Given the description of an element on the screen output the (x, y) to click on. 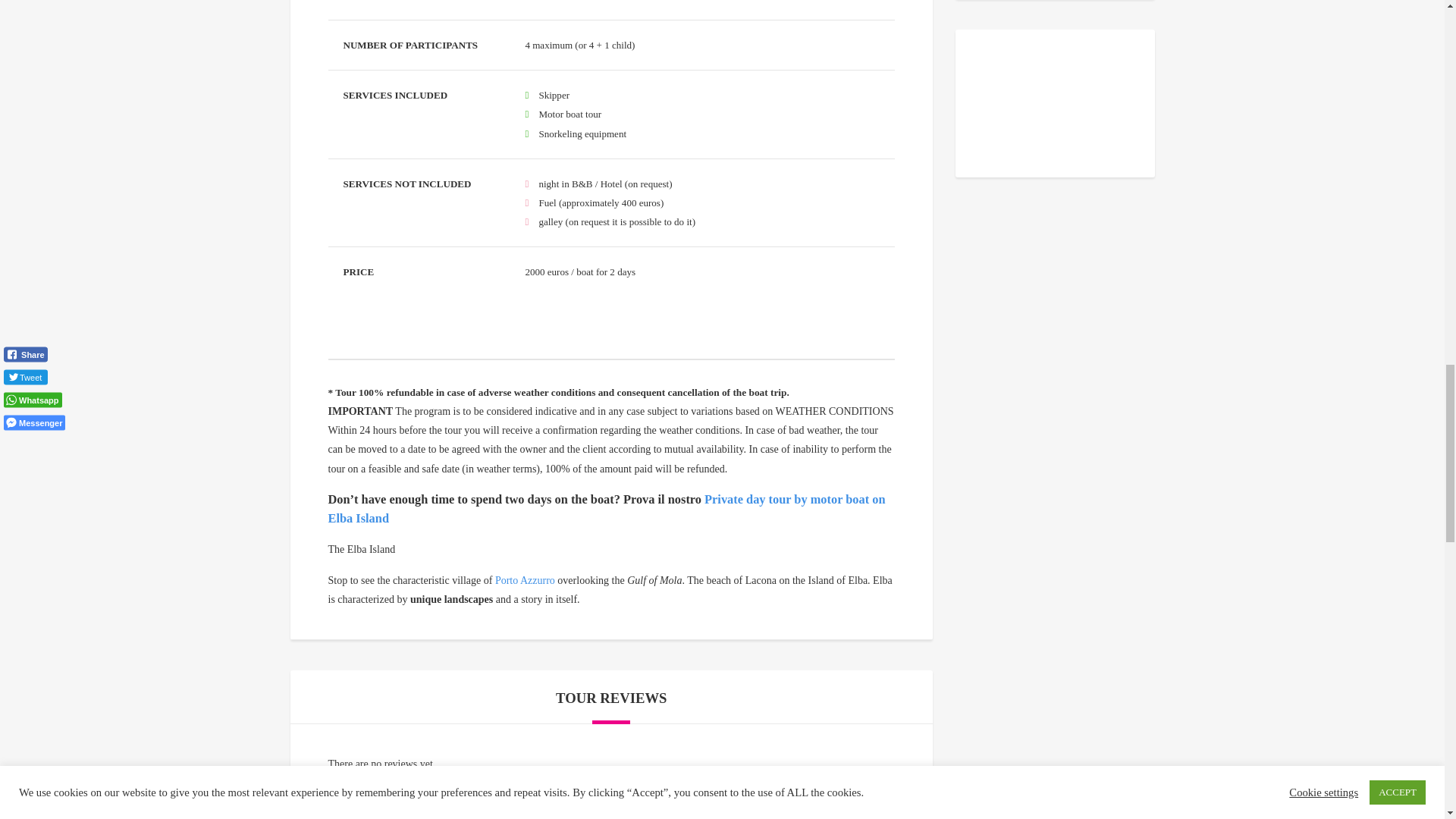
Porto Azzurro (524, 580)
Private day tour by motor boat on Elba Island (606, 509)
